Given the description of an element on the screen output the (x, y) to click on. 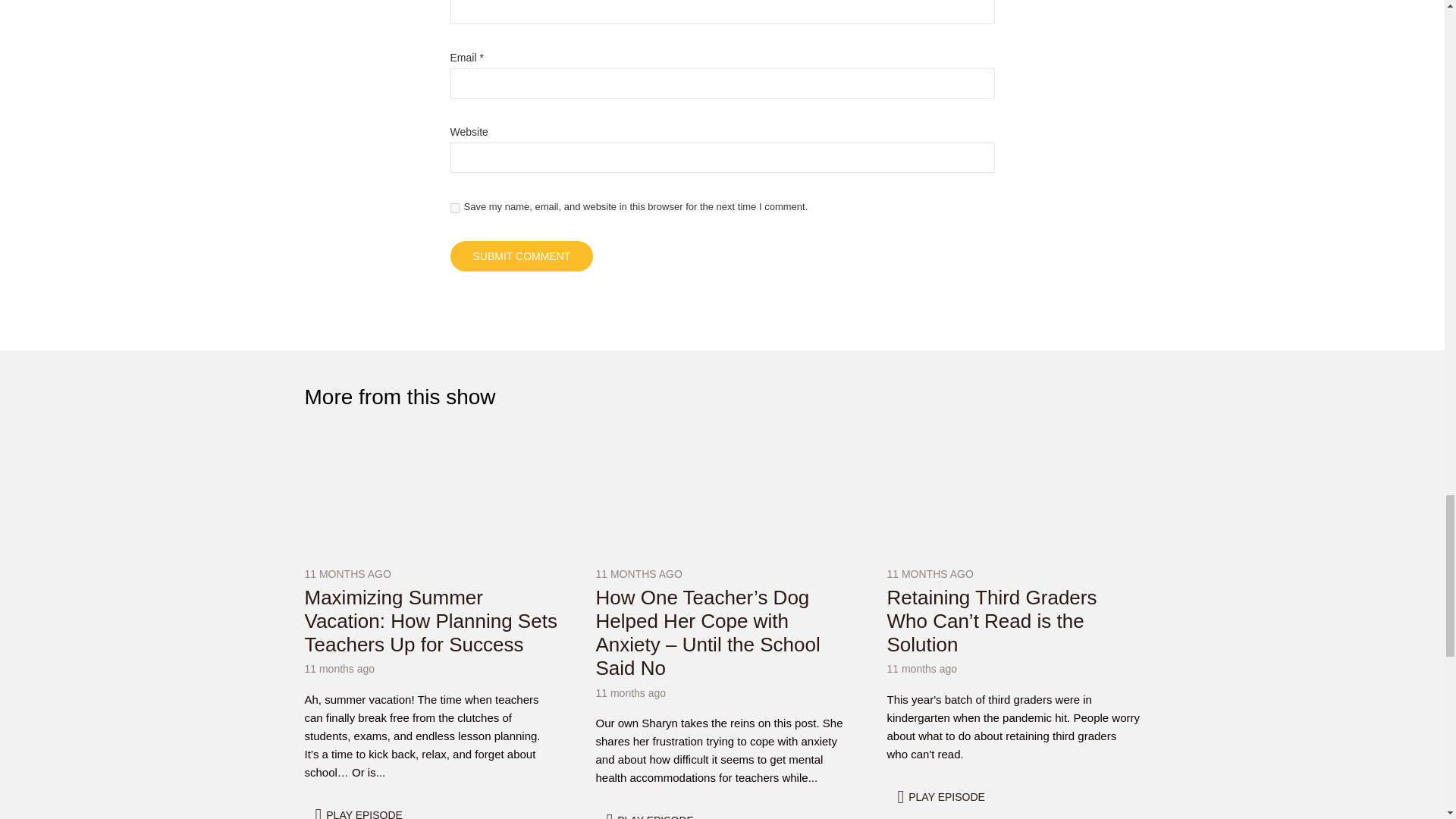
Submit Comment (521, 255)
PLAY EPISODE (360, 809)
Submit Comment (521, 255)
